Given the description of an element on the screen output the (x, y) to click on. 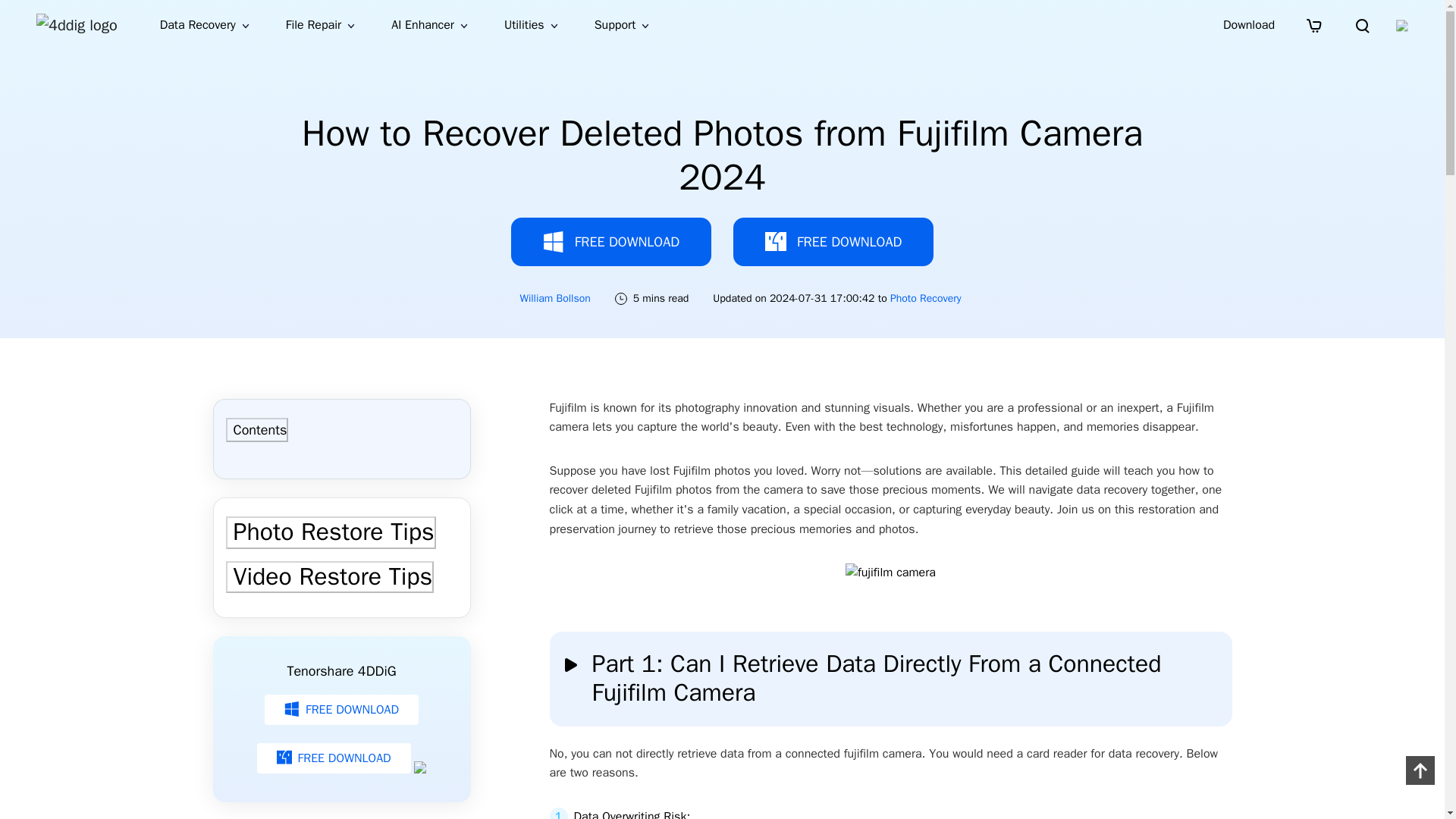
File Repair (319, 25)
AI Enhancer (429, 25)
Data Recovery (204, 25)
